Given the description of an element on the screen output the (x, y) to click on. 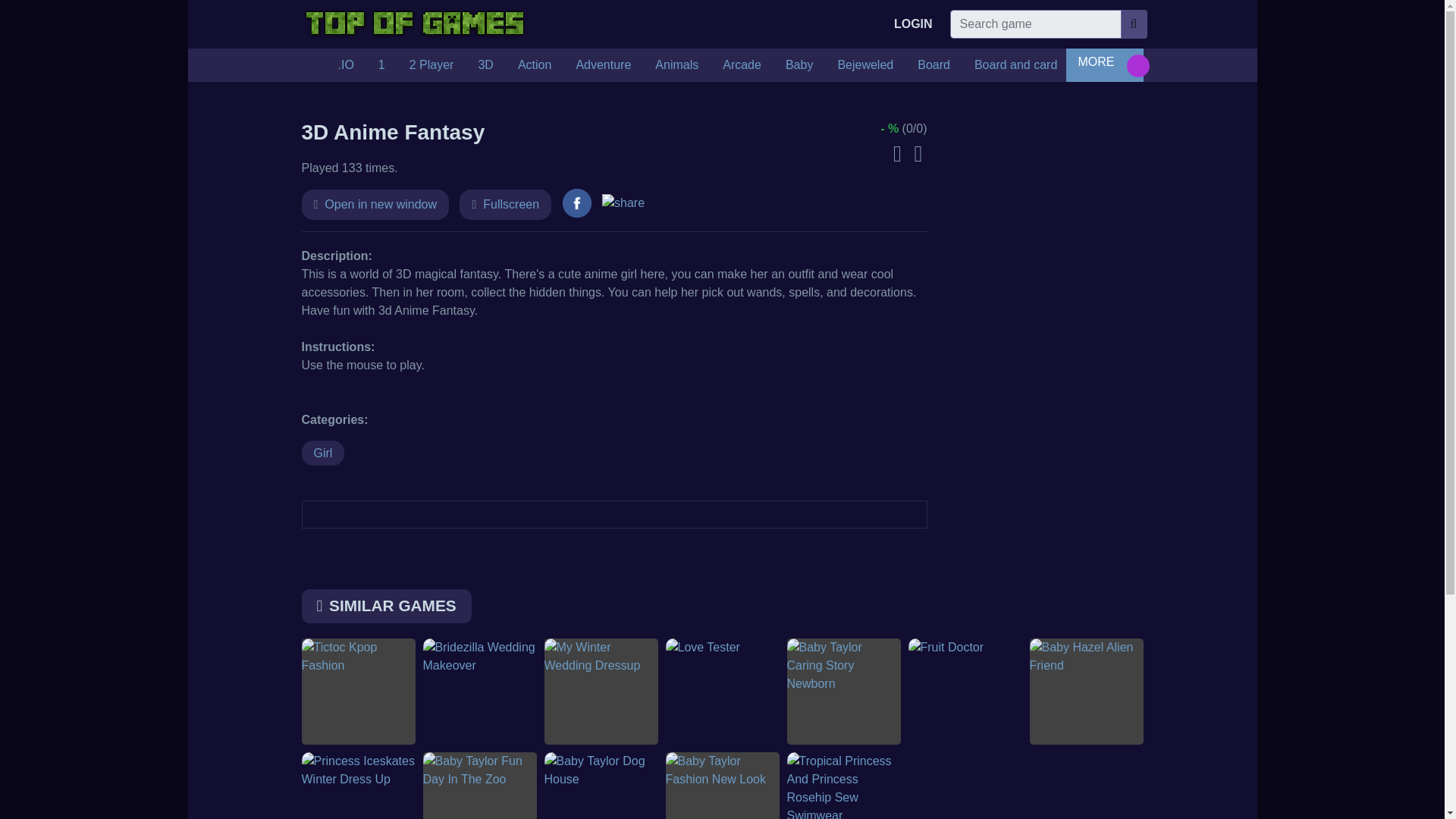
2 Player (431, 64)
Board and card (1015, 64)
1 (381, 64)
.IO (346, 64)
Animals (676, 64)
LOGIN (913, 24)
Baby (799, 64)
Arcade (741, 64)
Action (534, 64)
3D (485, 64)
Bejeweled (865, 64)
Board (933, 64)
Adventure (603, 64)
